Given the description of an element on the screen output the (x, y) to click on. 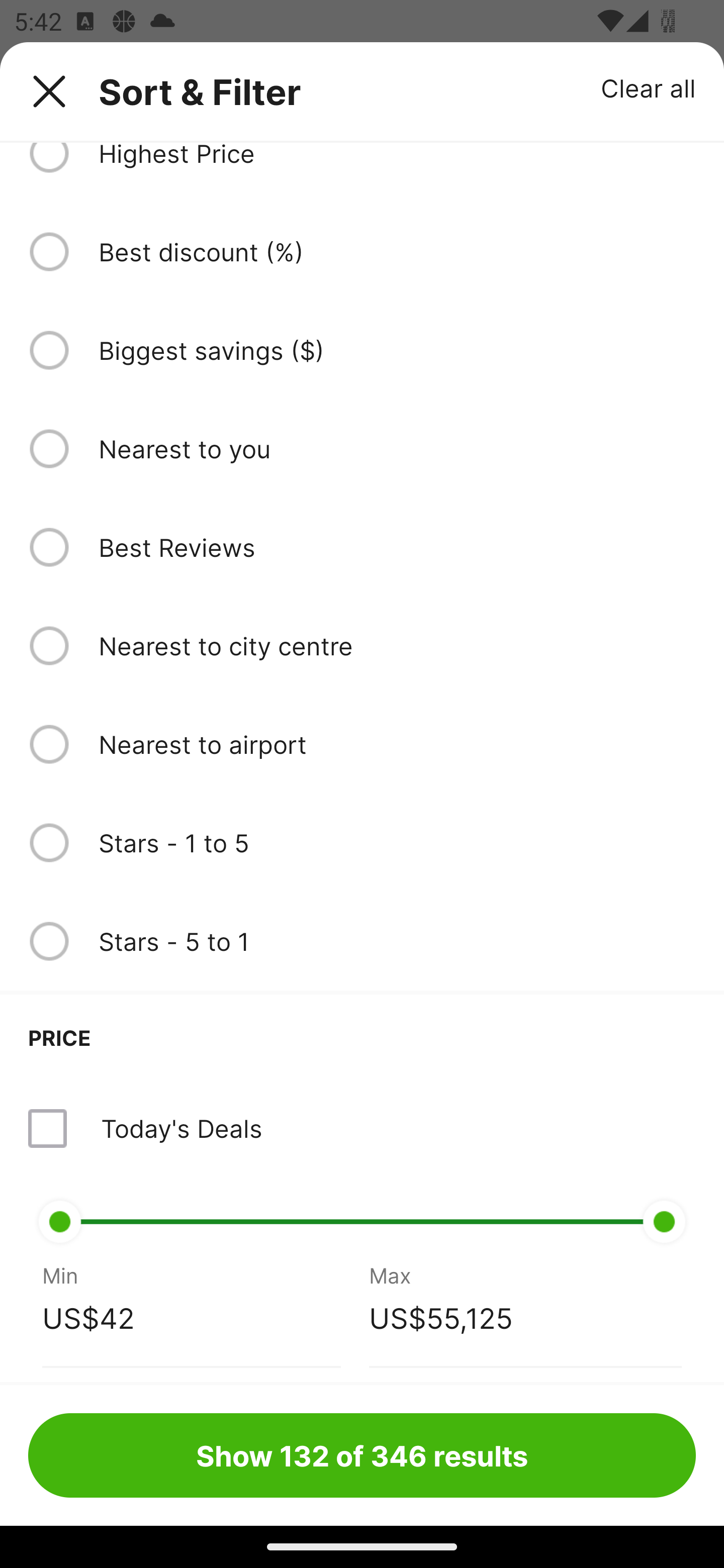
Clear all (648, 87)
Highest Price (396, 156)
Best discount (%) (396, 251)
Biggest savings ($) (396, 350)
Nearest to you (396, 448)
Best Reviews (396, 546)
Nearest to city centre (396, 645)
Nearest to airport (396, 743)
Stars - 1 to 5 (396, 842)
Stars - 5 to 1 (396, 941)
Today's Deals (362, 1128)
Today's Deals (181, 1128)
Show 132 of 346 results (361, 1454)
